Given the description of an element on the screen output the (x, y) to click on. 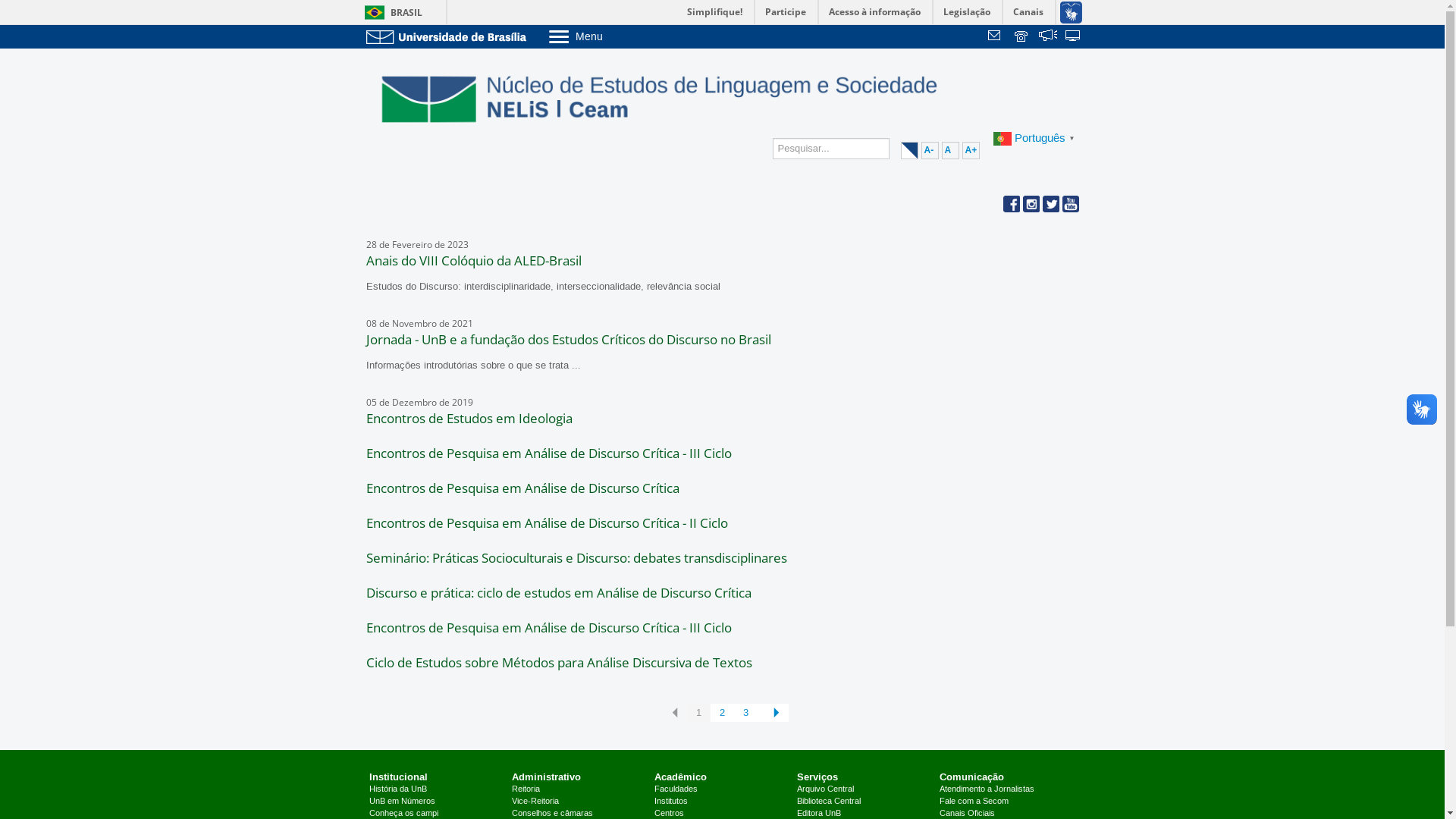
Faculdades Element type: text (675, 788)
Biblioteca Central Element type: text (828, 801)
Centros Element type: text (669, 813)
Editora UnB Element type: text (818, 813)
Atendimento a Jornalistas Element type: text (986, 788)
Ir para o Portal da UnB Element type: hover (448, 36)
Arquivo Central Element type: text (825, 788)
Encontros de Estudos em Ideologia Element type: text (468, 417)
Menu Element type: text (613, 35)
A+ Element type: text (970, 150)
A- Element type: text (929, 150)
  Element type: text (996, 37)
Fala.BR Element type: hover (1047, 37)
Sistemas Element type: hover (1073, 37)
BRASIL Element type: text (389, 12)
Canais Oficiais Element type: text (966, 813)
Vice-Reitoria Element type: text (534, 801)
A Element type: text (950, 150)
  Element type: text (1047, 37)
2 Element type: text (722, 712)
Reitoria Element type: text (525, 788)
Telefones da UnB Element type: hover (1022, 37)
1 Element type: text (698, 712)
Institutos Element type: text (670, 801)
  Element type: text (1073, 37)
Webmail Element type: hover (996, 37)
  Element type: text (1022, 37)
3 Element type: text (745, 712)
Fale com a Secom Element type: text (973, 801)
